Given the description of an element on the screen output the (x, y) to click on. 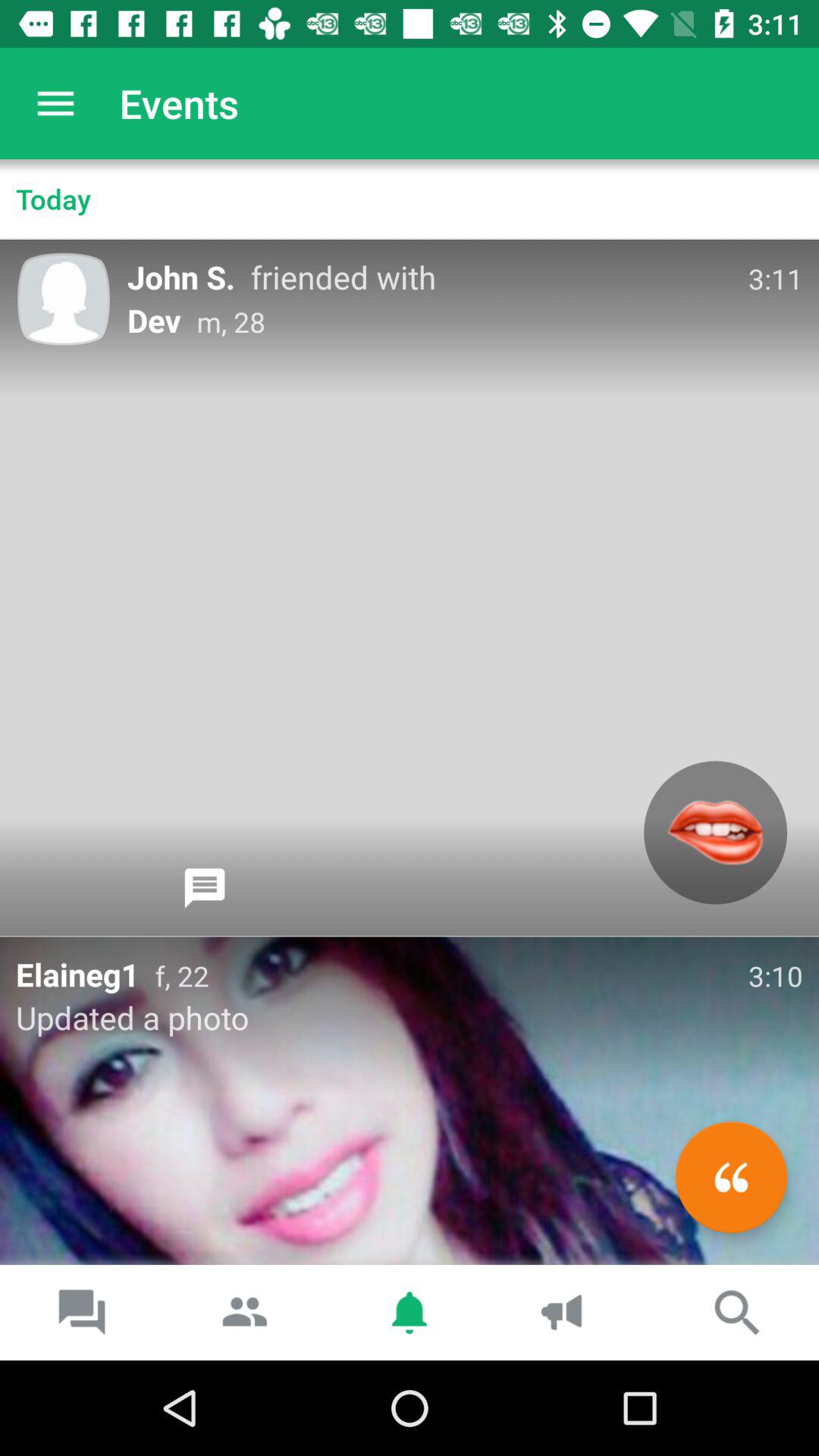
turn off icon to the left of events icon (55, 103)
